Given the description of an element on the screen output the (x, y) to click on. 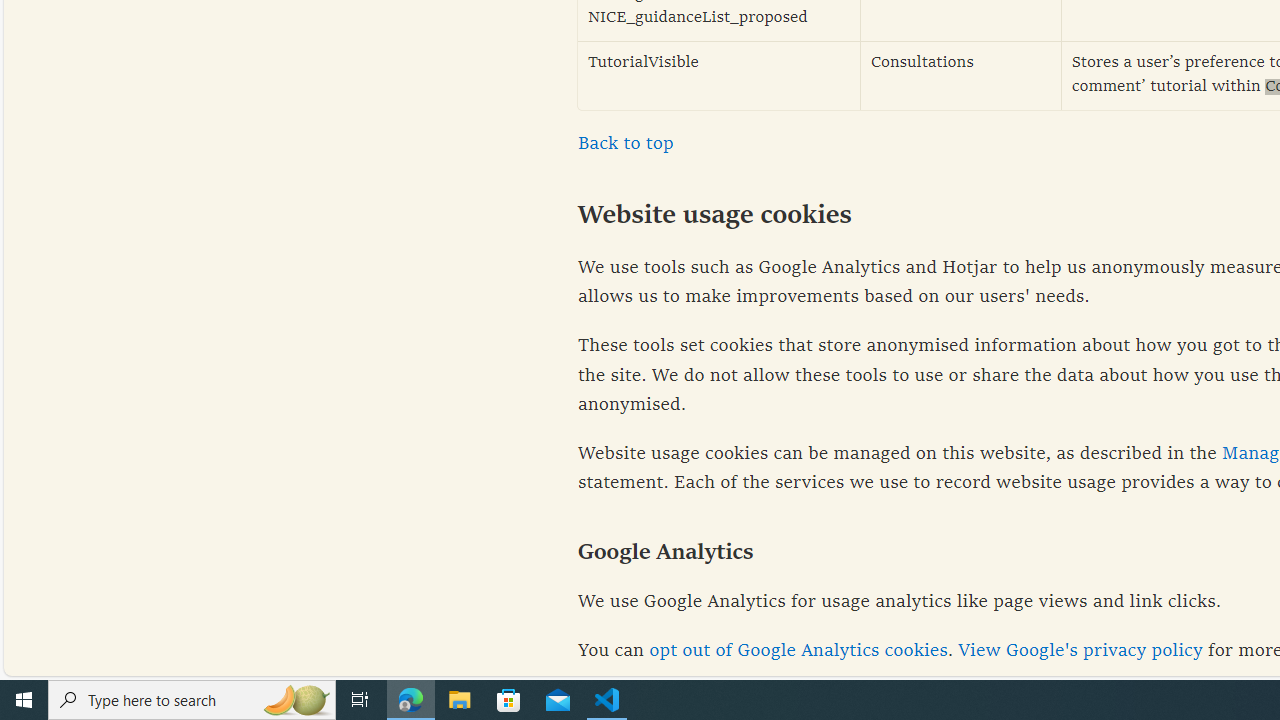
TutorialVisible (719, 75)
Back to top (625, 144)
opt out of Google Analytics cookies (798, 651)
View Google's privacy policy (1080, 651)
Consultations (961, 75)
